Given the description of an element on the screen output the (x, y) to click on. 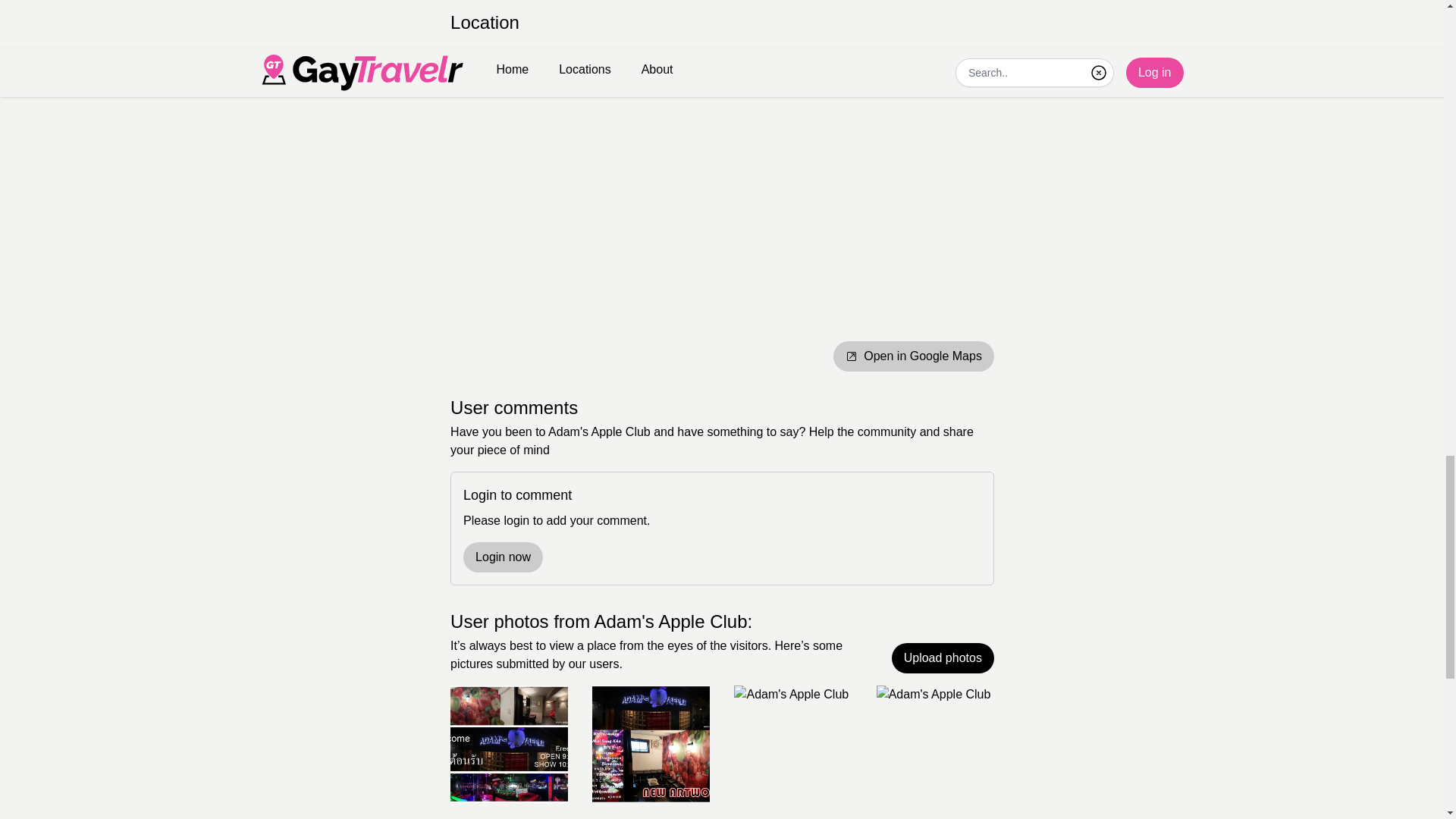
Upload photos (942, 657)
Login now (503, 557)
Open in Google Maps (913, 356)
